Given the description of an element on the screen output the (x, y) to click on. 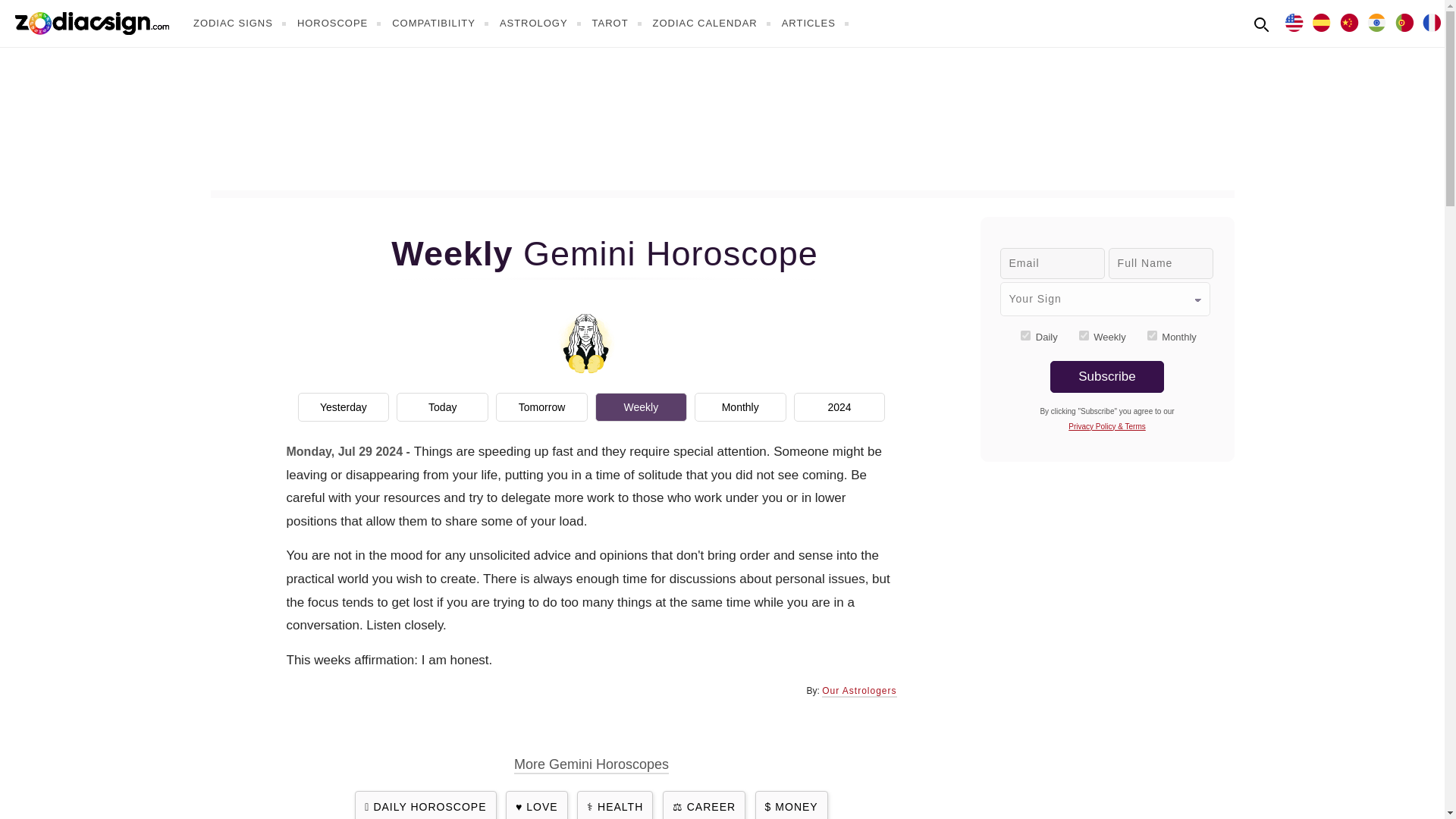
monthly (1152, 335)
weekly (1083, 335)
daily (1025, 335)
ZODIAC SIGNS (241, 23)
HOROSCOPE (341, 23)
In English (1294, 21)
